Given the description of an element on the screen output the (x, y) to click on. 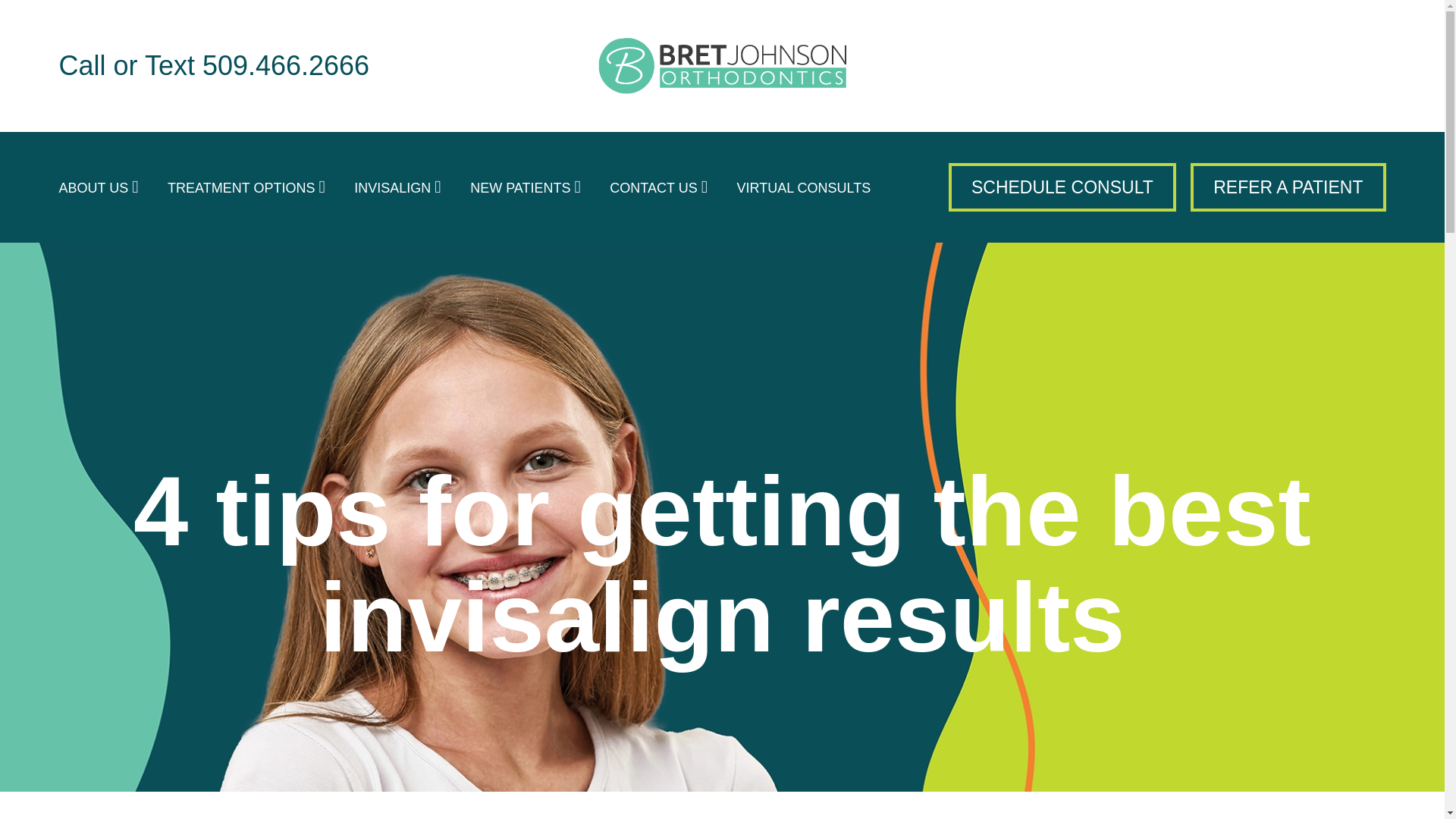
REFER A PATIENT (1288, 186)
SCHEDULE CONSULT (1062, 186)
INVISALIGN (397, 187)
NEW PATIENTS (525, 187)
509.466.2666 (285, 65)
ABOUT US (98, 187)
VIRTUAL CONSULTS (803, 187)
TREATMENT OPTIONS (245, 187)
CONTACT US (658, 187)
